Given the description of an element on the screen output the (x, y) to click on. 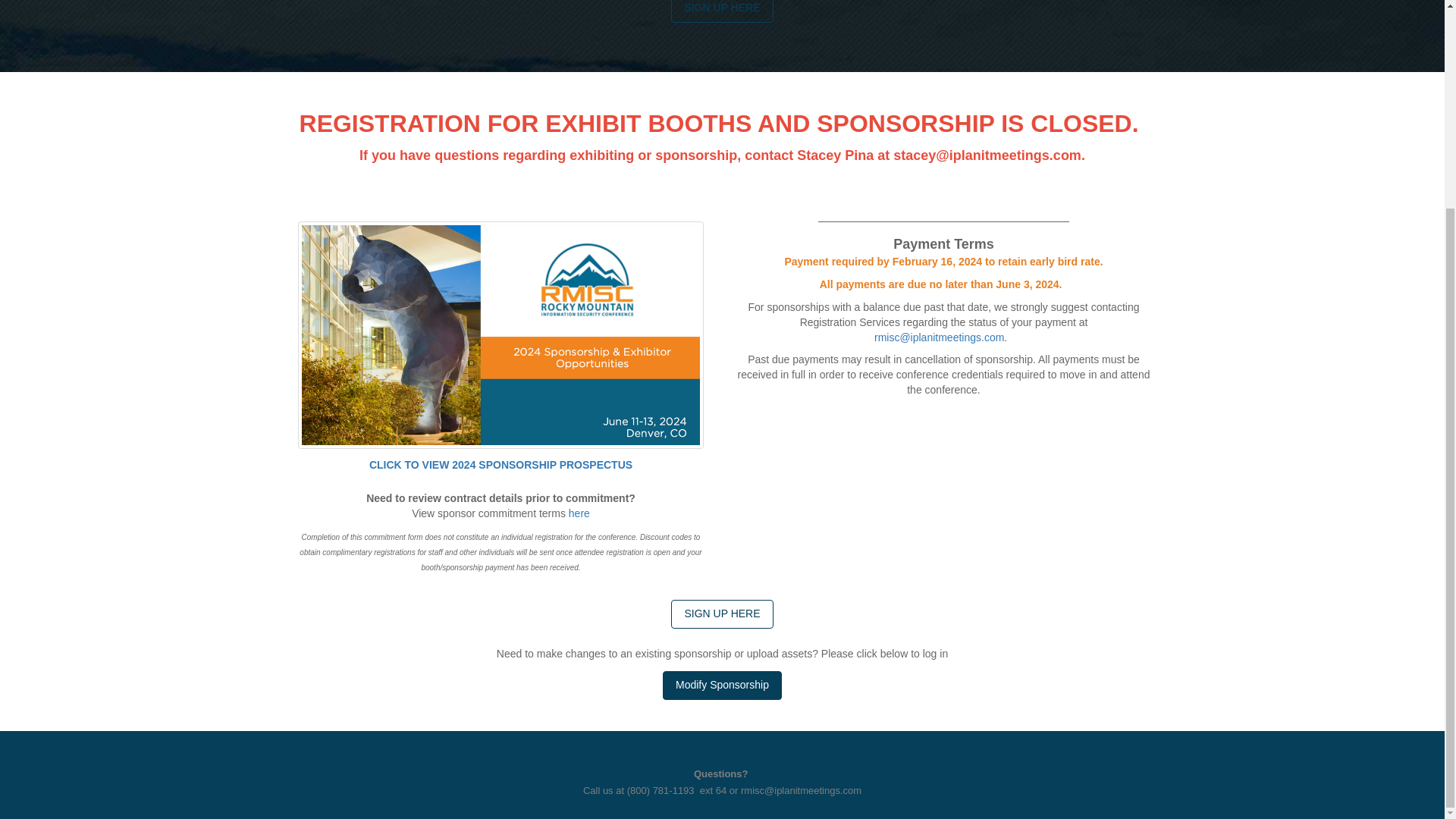
Modify Sponsorship (721, 685)
here (579, 512)
CLICK TO VIEW 2024 SPONSORSHIP PROSPECTUS (500, 464)
SIGN UP HERE (722, 11)
SIGN UP HERE (722, 613)
